Given the description of an element on the screen output the (x, y) to click on. 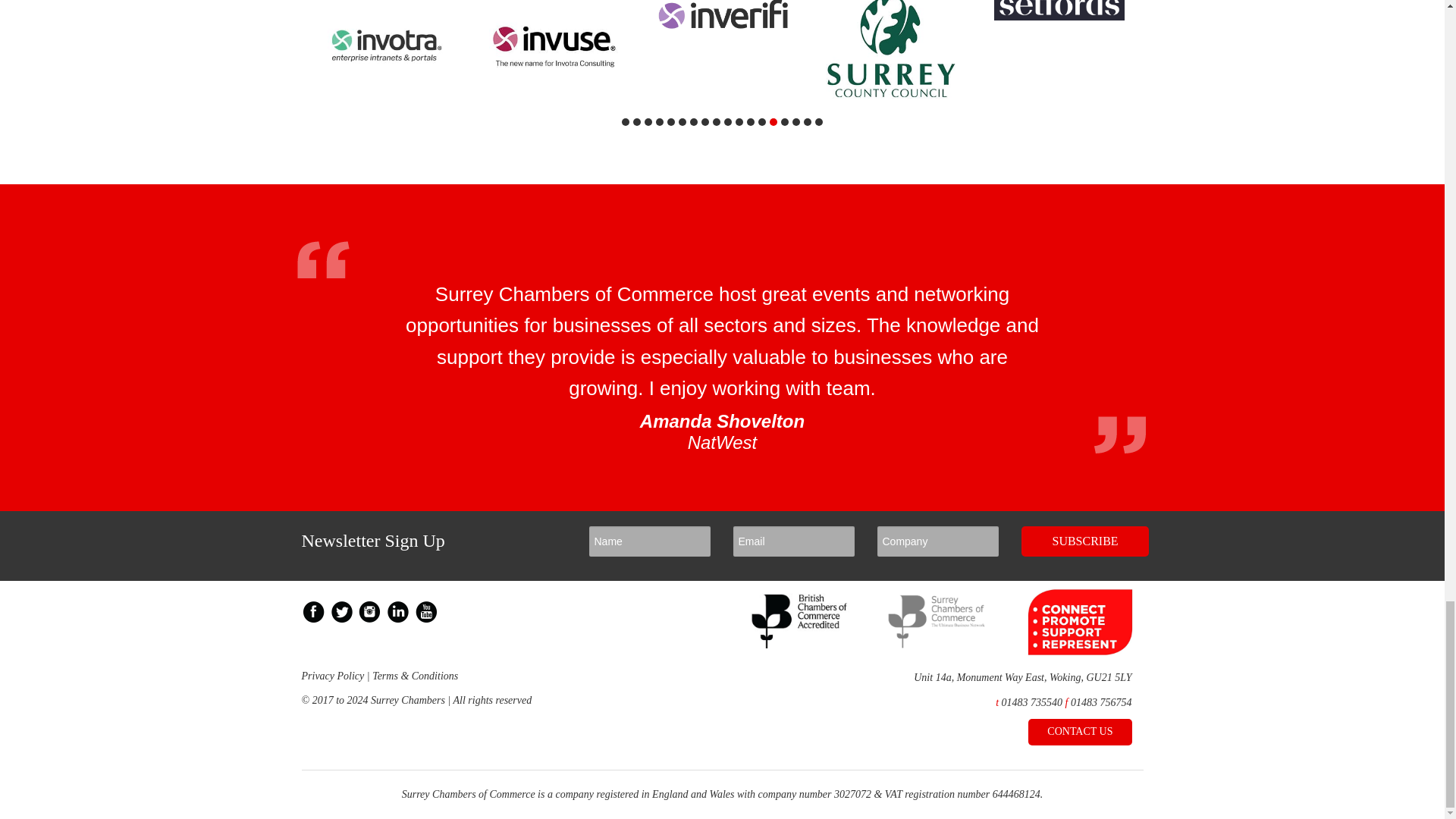
Surrey Chambers (937, 644)
SUBSCRIBE (1085, 541)
BCC Accredited (801, 644)
